Given the description of an element on the screen output the (x, y) to click on. 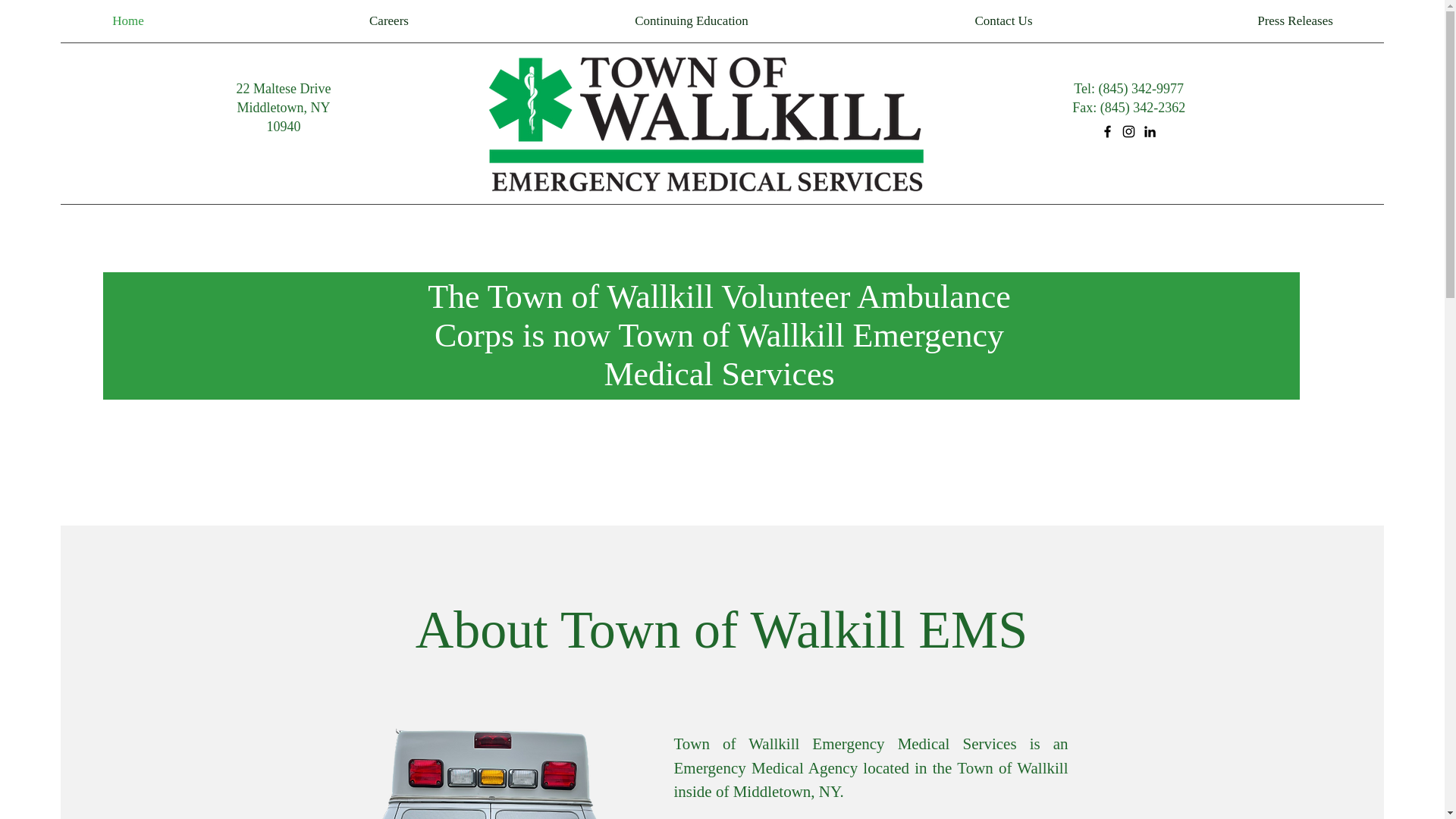
Careers (388, 21)
Contact Us (1003, 21)
Continuing Education (691, 21)
TOWEMS Logo COLOR.png (705, 125)
Home (128, 21)
